Given the description of an element on the screen output the (x, y) to click on. 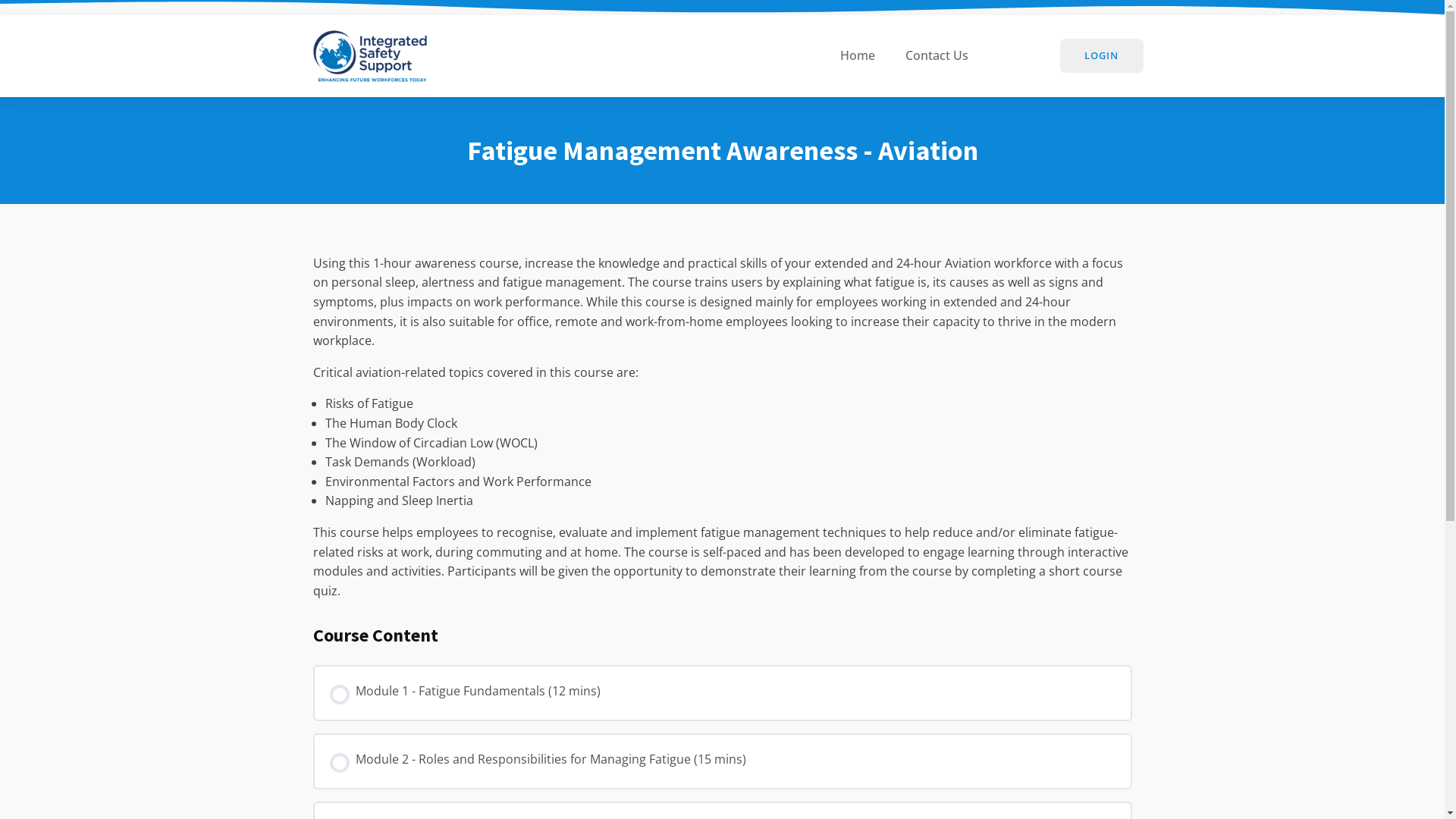
Module 1 - Fatigue Fundamentals (12 mins) Element type: text (721, 692)
Home Element type: text (857, 55)
Contact Us Element type: text (936, 55)
LOGIN Element type: text (1101, 55)
